Given the description of an element on the screen output the (x, y) to click on. 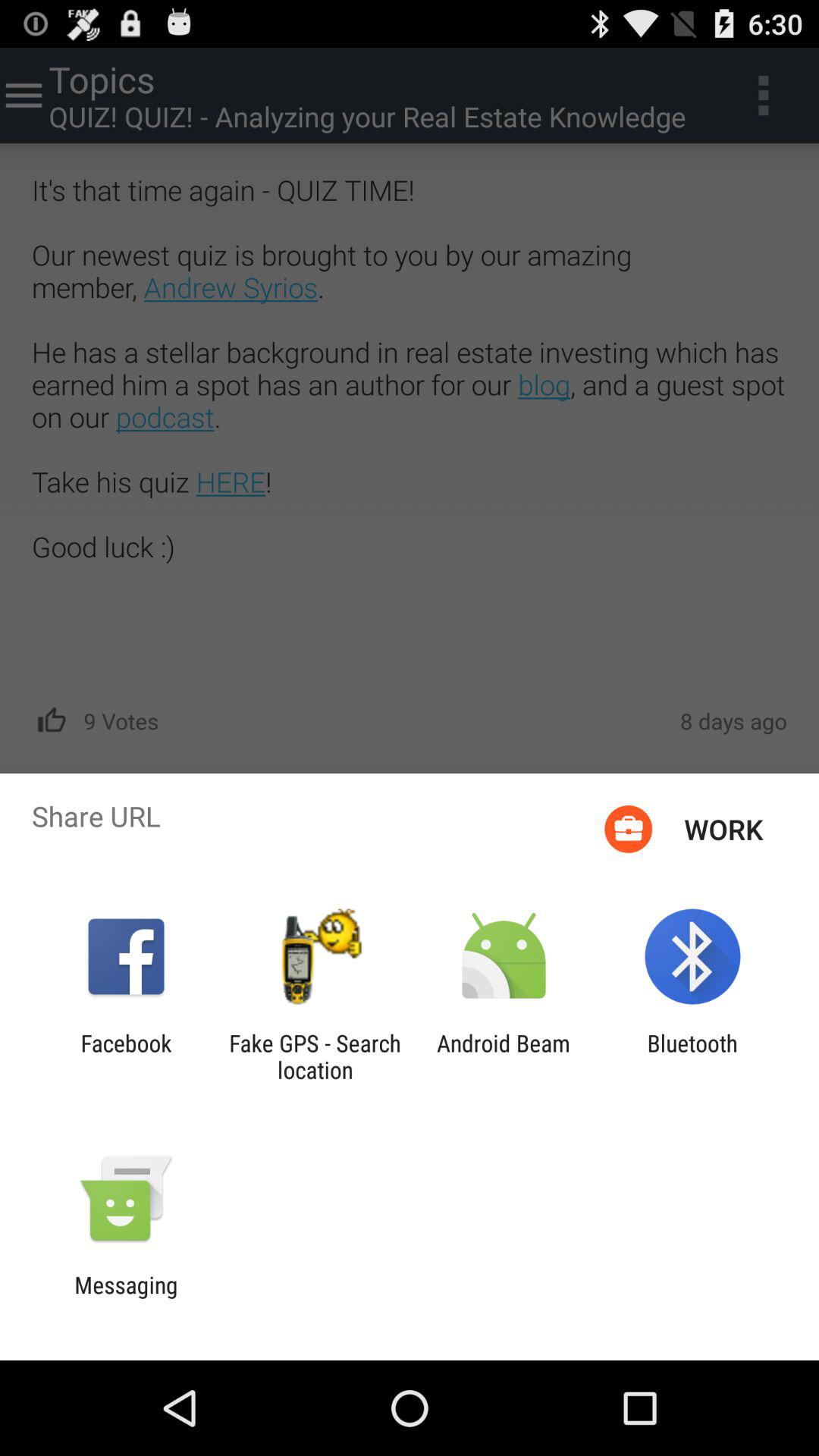
select icon to the right of the facebook (314, 1056)
